Given the description of an element on the screen output the (x, y) to click on. 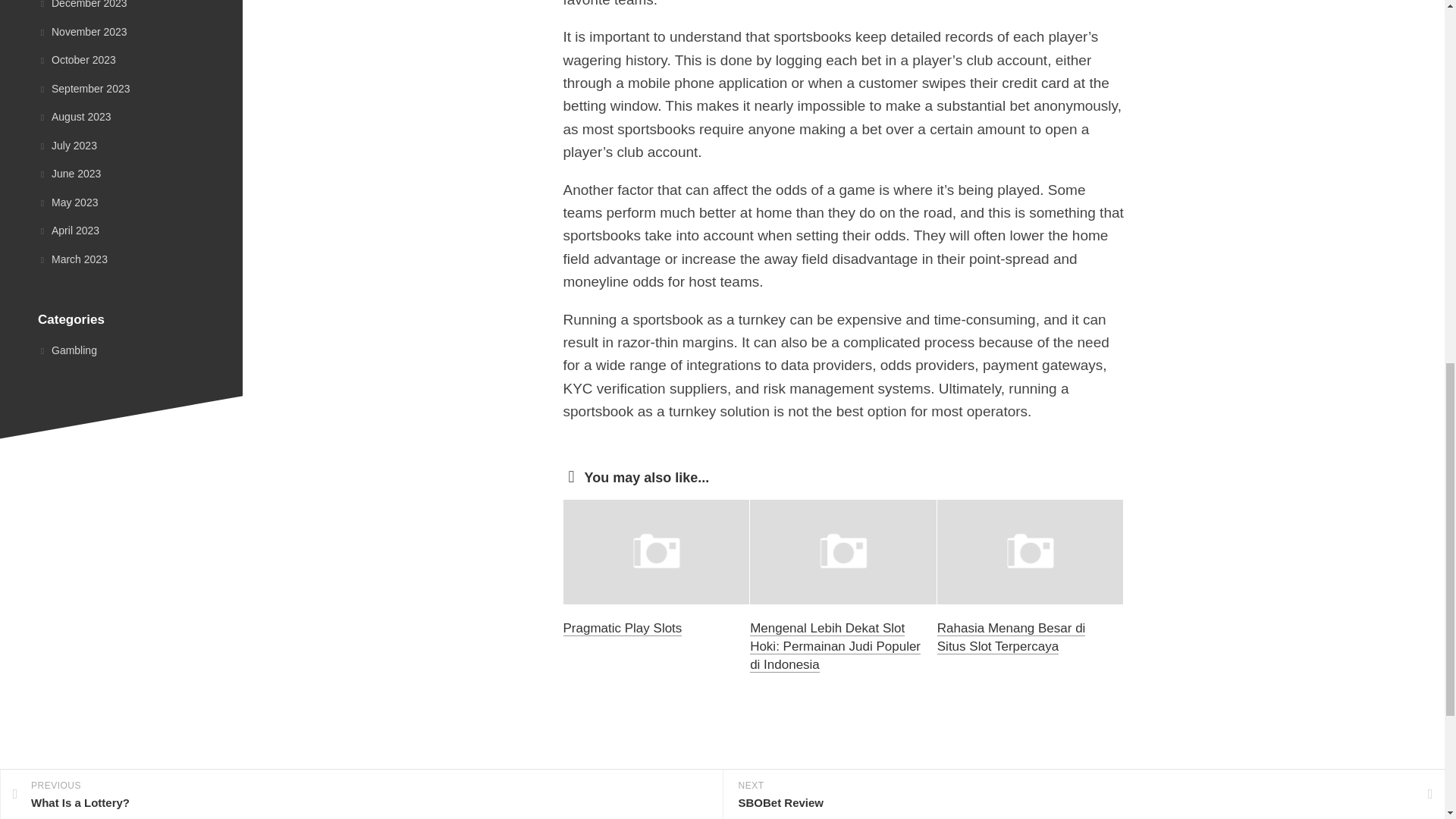
Pragmatic Play Slots (621, 627)
April 2023 (68, 230)
November 2023 (82, 31)
May 2023 (67, 201)
August 2023 (74, 116)
March 2023 (72, 259)
Rahasia Menang Besar di Situs Slot Terpercaya (1011, 636)
September 2023 (84, 87)
June 2023 (68, 173)
